Given the description of an element on the screen output the (x, y) to click on. 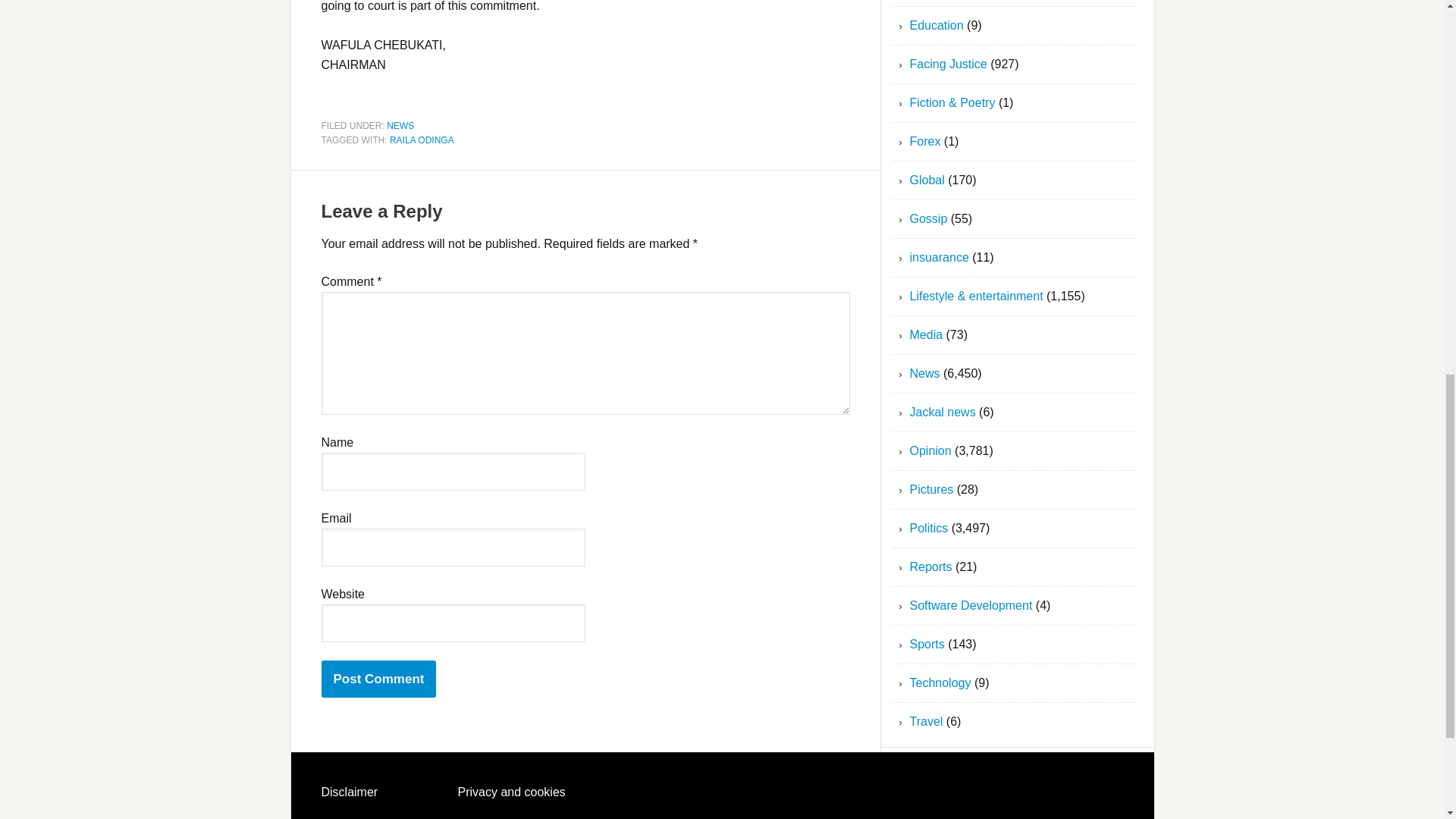
Education (936, 24)
Gossip (928, 218)
Jackal news (942, 411)
News (925, 373)
Facing Justice (948, 63)
Post Comment (378, 678)
Post Comment (378, 678)
Politics (929, 527)
Global (927, 179)
RAILA ODINGA (422, 140)
Opinion (931, 450)
Pictures (931, 489)
insuarance (939, 256)
NEWS (400, 124)
Media (926, 334)
